Given the description of an element on the screen output the (x, y) to click on. 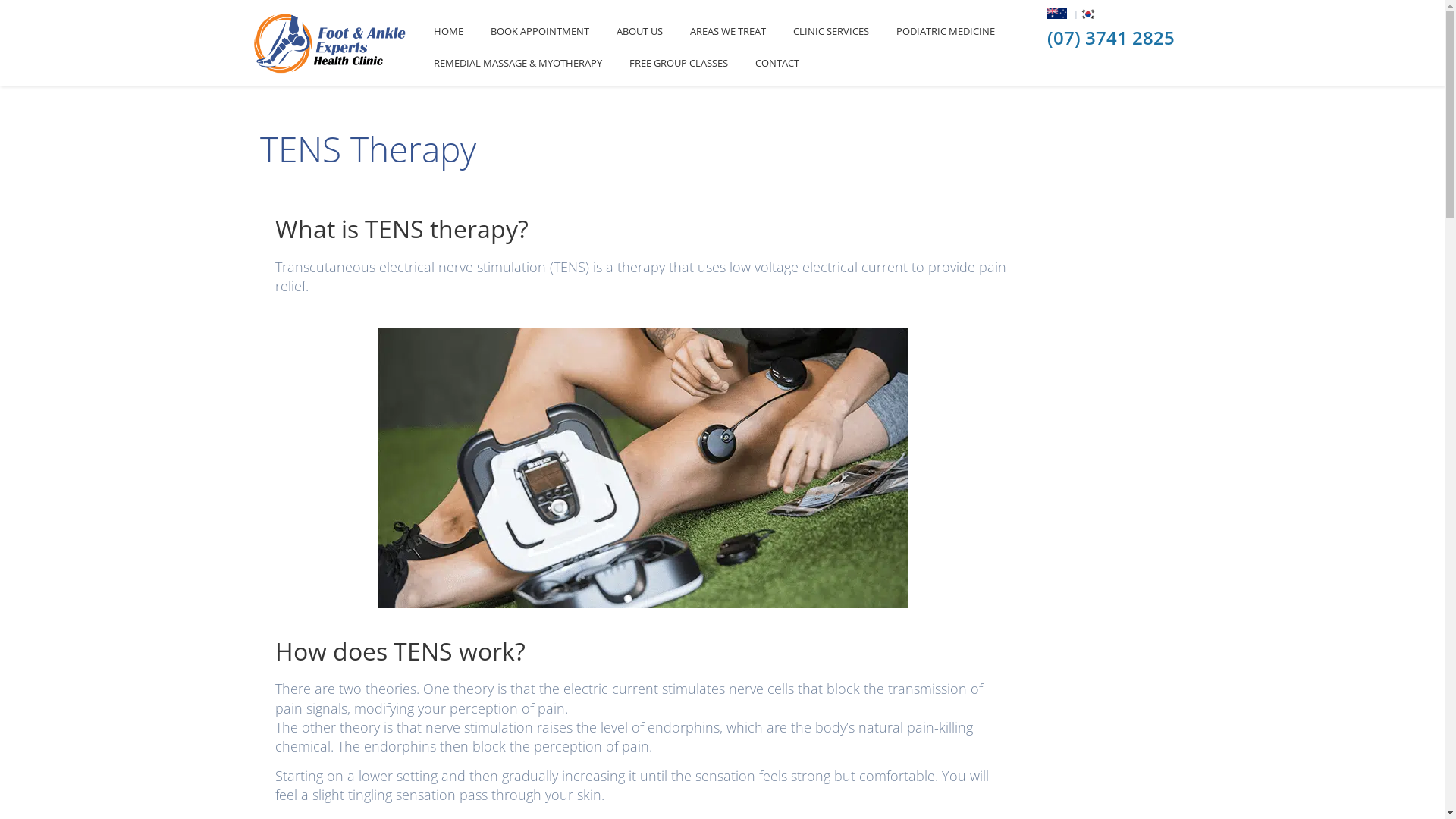
ABOUT US Element type: text (639, 31)
Foot & Ankle Experts Health Clinic Element type: hover (329, 42)
HOME Element type: text (448, 31)
FREE GROUP CLASSES Element type: text (678, 62)
REMEDIAL MASSAGE & MYOTHERAPY Element type: text (517, 62)
(07) 3741 2825 Element type: text (1110, 37)
tensmachine Element type: hover (642, 337)
BOOK APPOINTMENT Element type: text (539, 31)
CLINIC SERVICES Element type: text (830, 31)
PODIATRIC MEDICINE Element type: text (945, 31)
AREAS WE TREAT Element type: text (727, 31)
CONTACT Element type: text (776, 62)
